Given the description of an element on the screen output the (x, y) to click on. 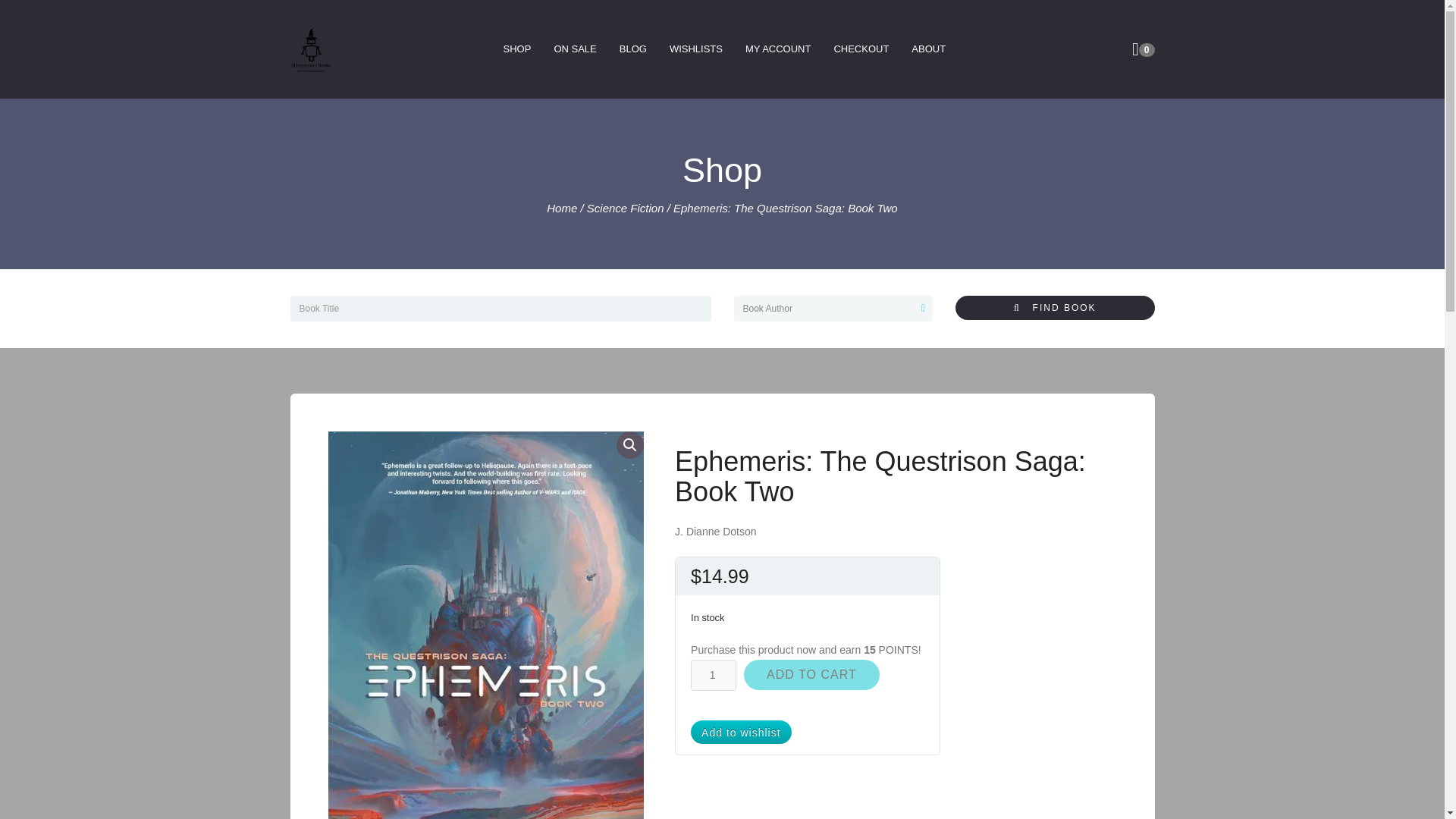
ABOUT (927, 49)
1 (713, 675)
MY ACCOUNT (777, 49)
On Sale (574, 49)
Science Fiction (624, 207)
Checkout (860, 49)
BLOG (633, 49)
ON SALE (574, 49)
Home (561, 207)
Wishlists (695, 49)
ADD TO CART (811, 675)
Shop (517, 49)
  FIND BOOK (1054, 307)
About (927, 49)
SHOP (517, 49)
